Given the description of an element on the screen output the (x, y) to click on. 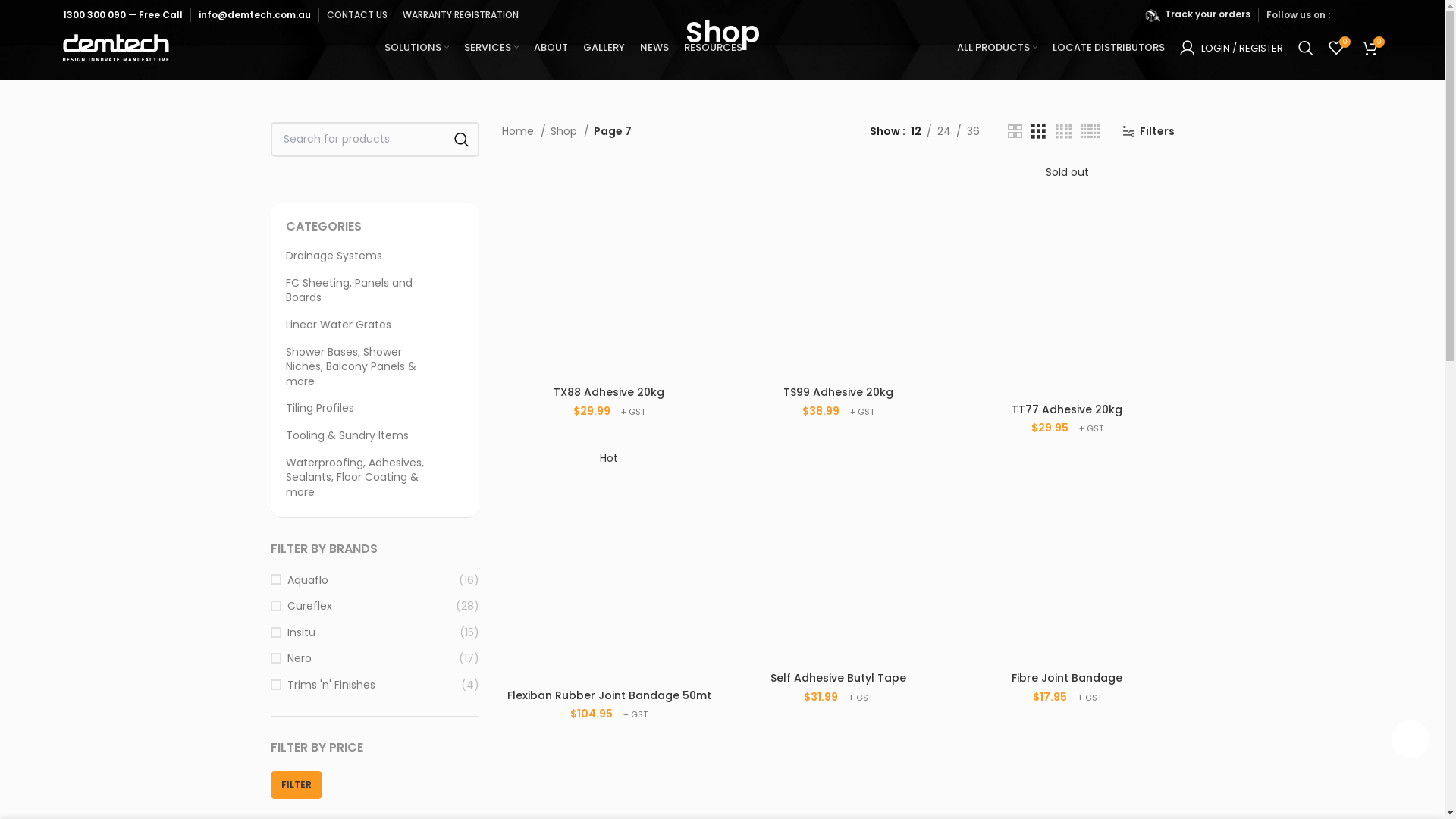
ALL PRODUCTS Element type: text (997, 47)
FILTER Element type: text (295, 784)
Trims 'n' Finishes Element type: text (365, 685)
Linear Water Grates Element type: text (365, 324)
0 Element type: text (1336, 47)
CONTACT US Element type: text (356, 15)
TX88 Adhesive 20kg Element type: text (608, 391)
Cureflex Element type: text (362, 606)
Nero Element type: text (363, 658)
Drainage Systems Element type: text (365, 255)
LOGIN / REGISTER Element type: text (1231, 47)
Insitu Element type: text (364, 632)
Filters Element type: text (1147, 131)
SOLUTIONS Element type: text (415, 47)
TT77 Adhesive 20kg Element type: text (1066, 409)
Search Element type: hover (1305, 47)
GALLERY Element type: text (603, 47)
0 Element type: text (1370, 47)
Flexiban Rubber Joint Bandage 50mt Element type: text (609, 694)
Hot Element type: text (608, 564)
12 Element type: text (915, 130)
WARRANTY REGISTRATION Element type: text (460, 15)
Home Element type: text (524, 130)
NEWS Element type: text (654, 47)
Self Adhesive Butyl Tape Element type: text (838, 677)
LOCATE DISTRIBUTORS Element type: text (1108, 47)
info@demtech.com.au Element type: text (254, 14)
Shop Element type: text (569, 130)
36 Element type: text (973, 130)
Shower Bases, Shower Niches, Balcony Panels & more Element type: text (365, 366)
Track your orders Element type: text (1207, 13)
Tiling Profiles Element type: text (365, 408)
Aquaflo Element type: text (363, 580)
FC Sheeting, Panels and Boards Element type: text (365, 290)
Tooling & Sundry Items Element type: text (365, 435)
SEARCH Element type: text (461, 139)
Waterproofing, Adhesives, Sealants, Floor Coating & more Element type: text (365, 477)
TS99 Adhesive 20kg Element type: text (838, 391)
Fibre Joint Bandage Element type: text (1066, 677)
Sold out Element type: text (1066, 279)
SERVICES Element type: text (491, 47)
Search for products Element type: hover (374, 139)
RESOURCES Element type: text (713, 47)
ABOUT Element type: text (550, 47)
24 Element type: text (943, 130)
